Given the description of an element on the screen output the (x, y) to click on. 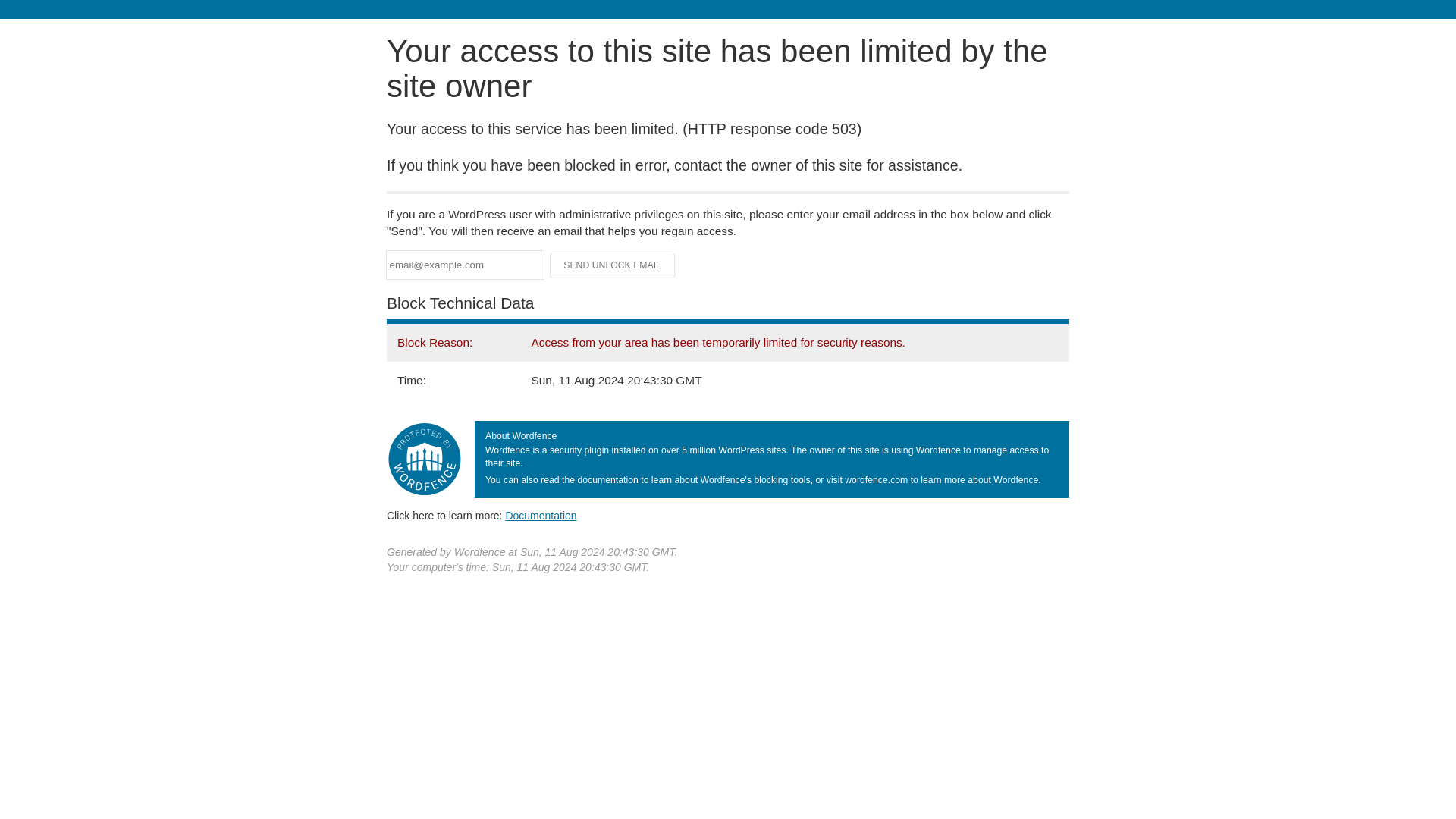
Send Unlock Email (612, 265)
Send Unlock Email (612, 265)
Documentation (540, 515)
